Given the description of an element on the screen output the (x, y) to click on. 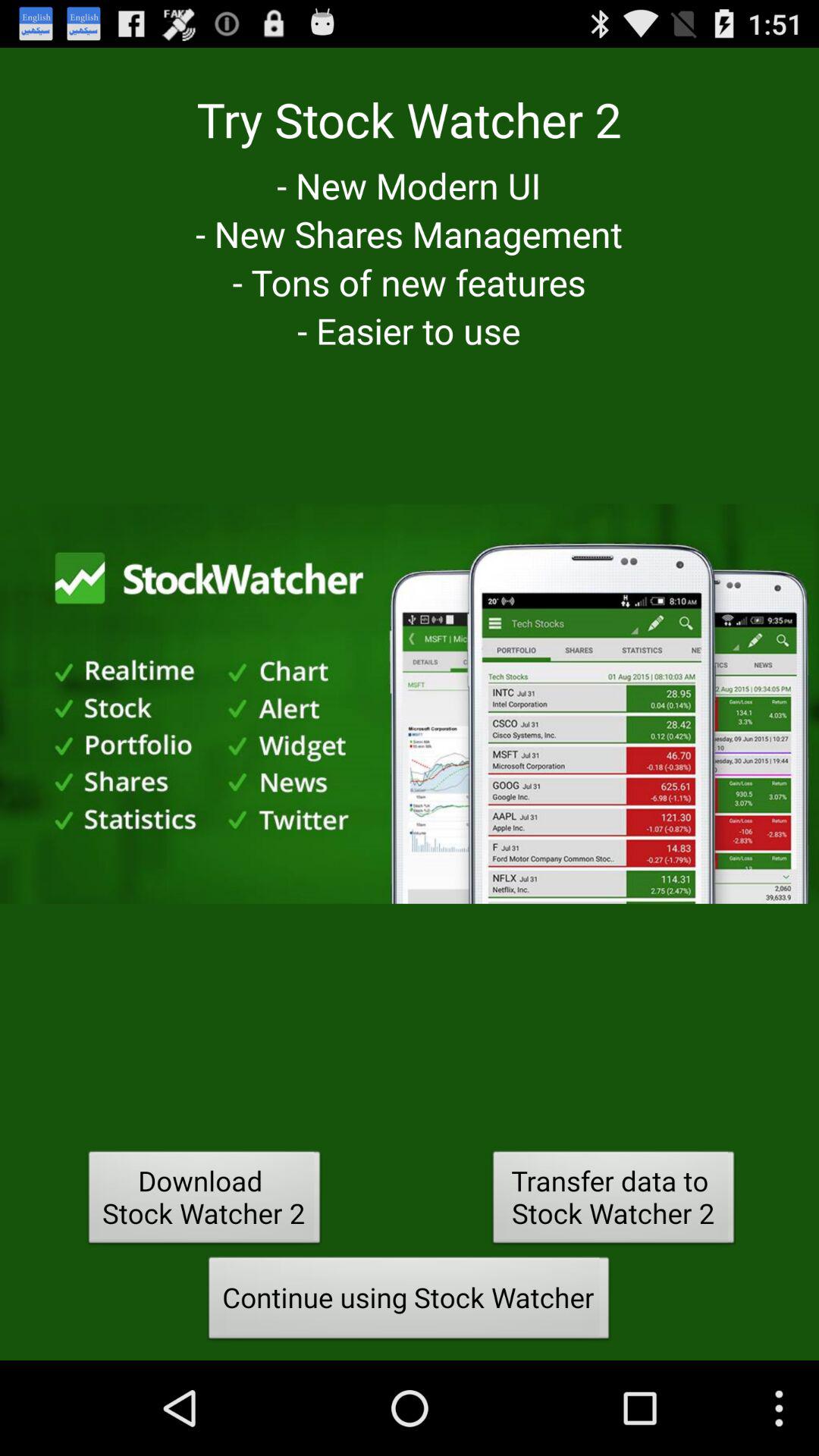
turn on the item at the bottom right corner (613, 1201)
